Given the description of an element on the screen output the (x, y) to click on. 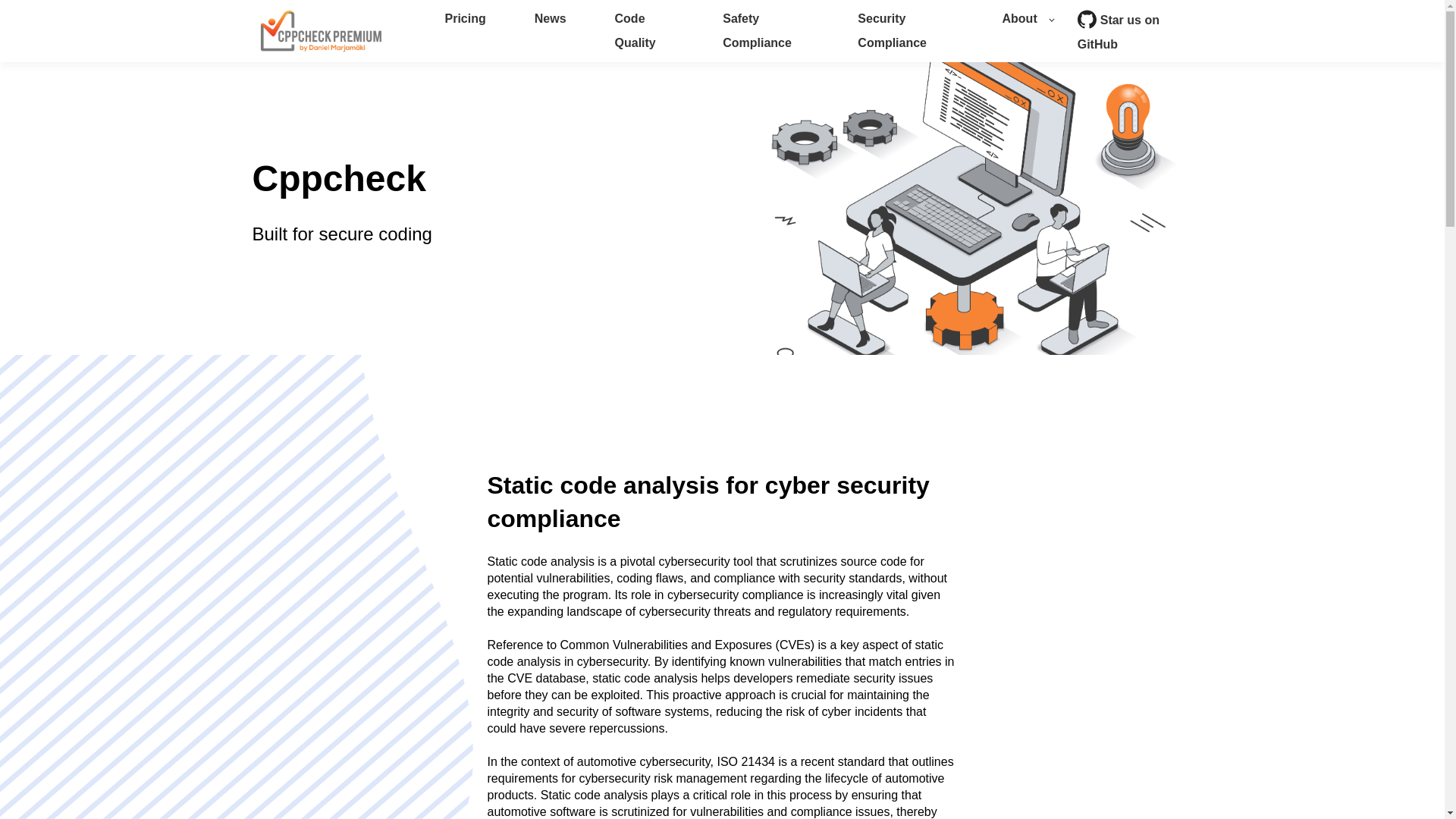
Security Compliance (905, 30)
Star us on GitHub (1134, 31)
Pricing (464, 18)
Safety Compliance (765, 30)
Code Quality (644, 30)
About (1027, 18)
